Given the description of an element on the screen output the (x, y) to click on. 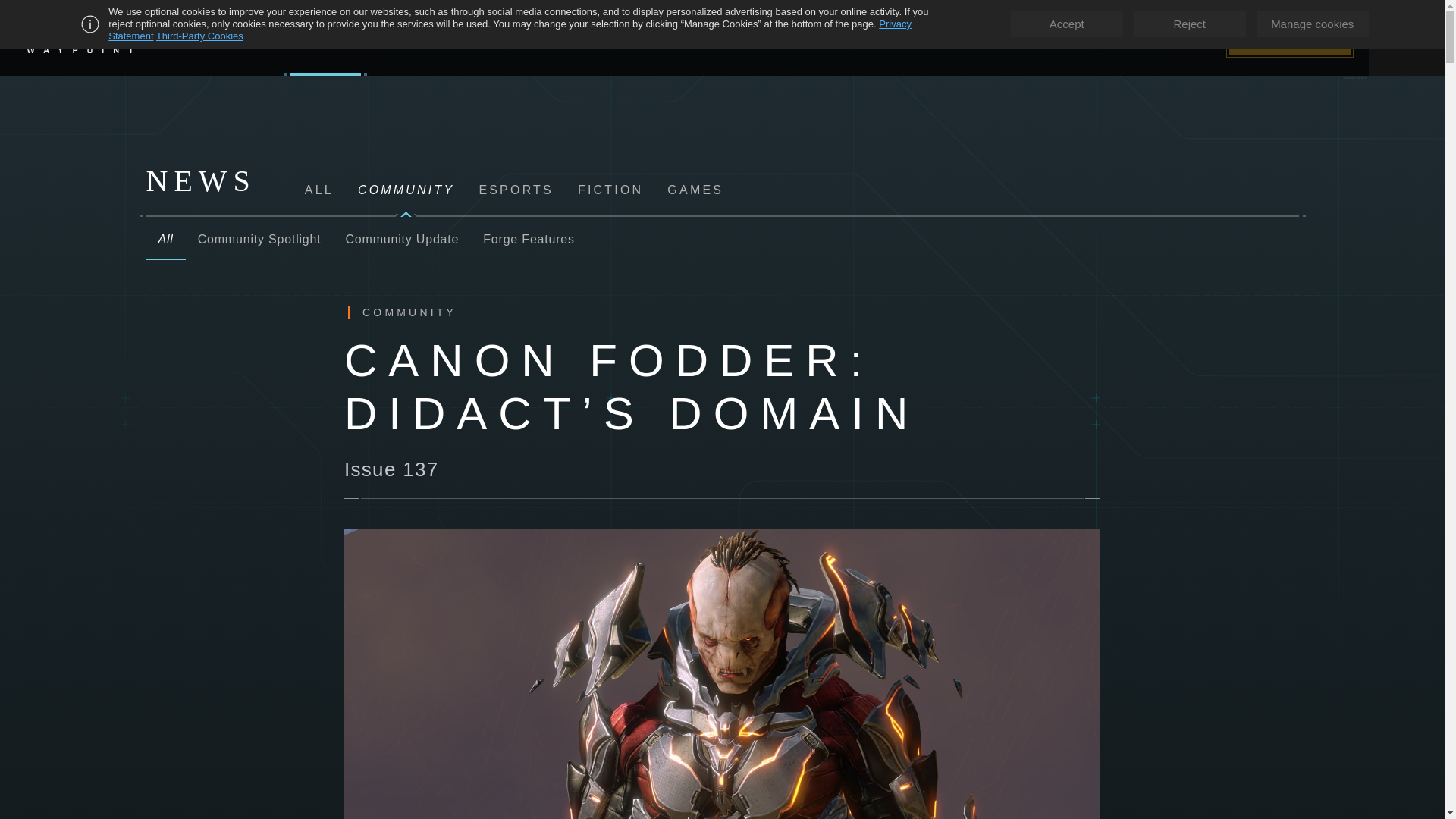
ESPORTS (515, 189)
Privacy Statement (509, 29)
GET HALO (1289, 37)
GAMES (218, 38)
GAMES (695, 189)
ESPORTS (441, 38)
ALL (325, 189)
Third-Party Cookies (199, 35)
GEAR (998, 38)
FICTION (610, 189)
